Given the description of an element on the screen output the (x, y) to click on. 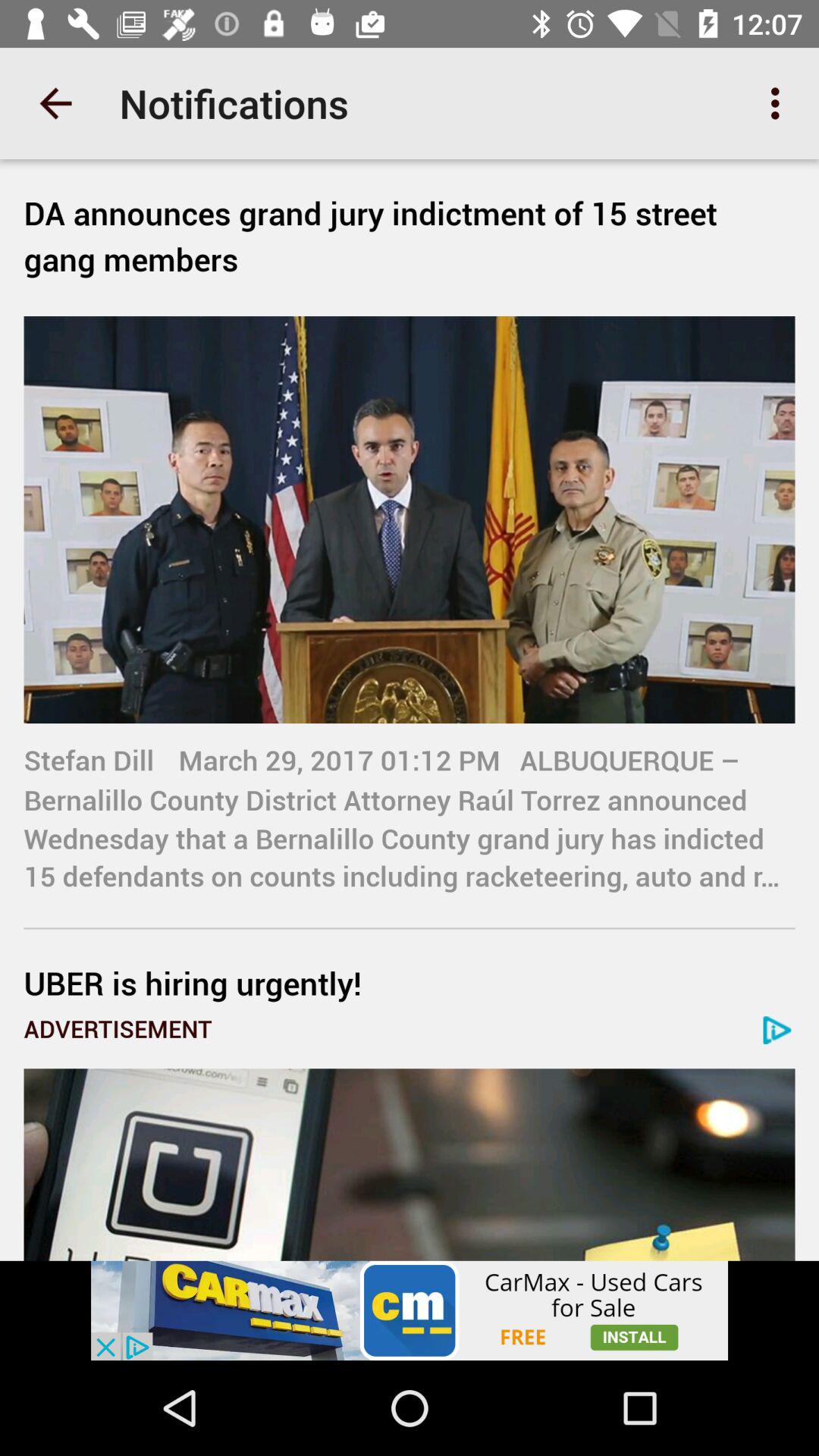
select the app to the left of the notifications app (55, 103)
